Given the description of an element on the screen output the (x, y) to click on. 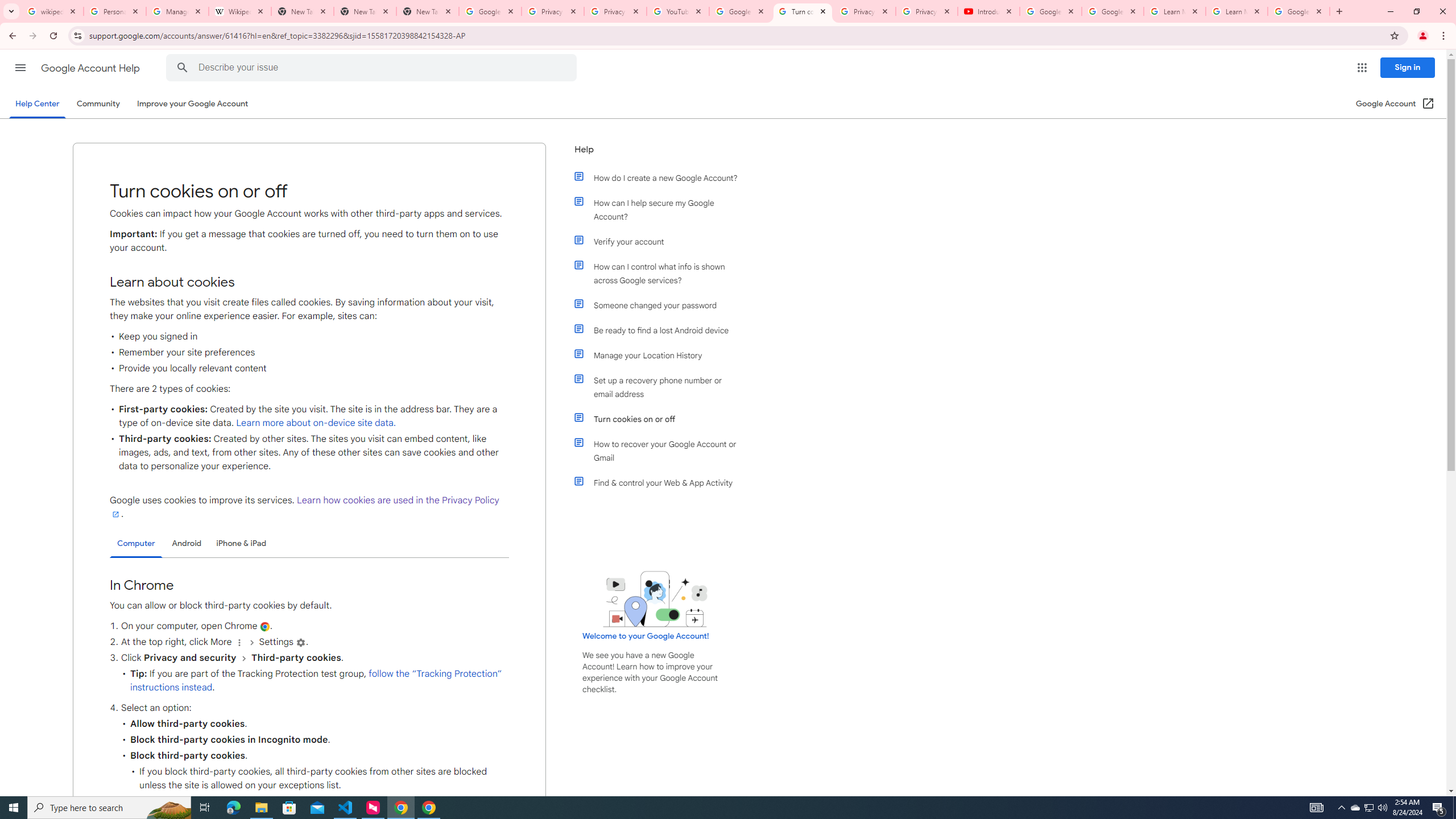
Wikipedia:Edit requests - Wikipedia (239, 11)
Someone changed your password (661, 305)
Google Drive: Sign-in (490, 11)
More (239, 642)
Welcome to your Google Account! (645, 635)
Android (186, 542)
